Given the description of an element on the screen output the (x, y) to click on. 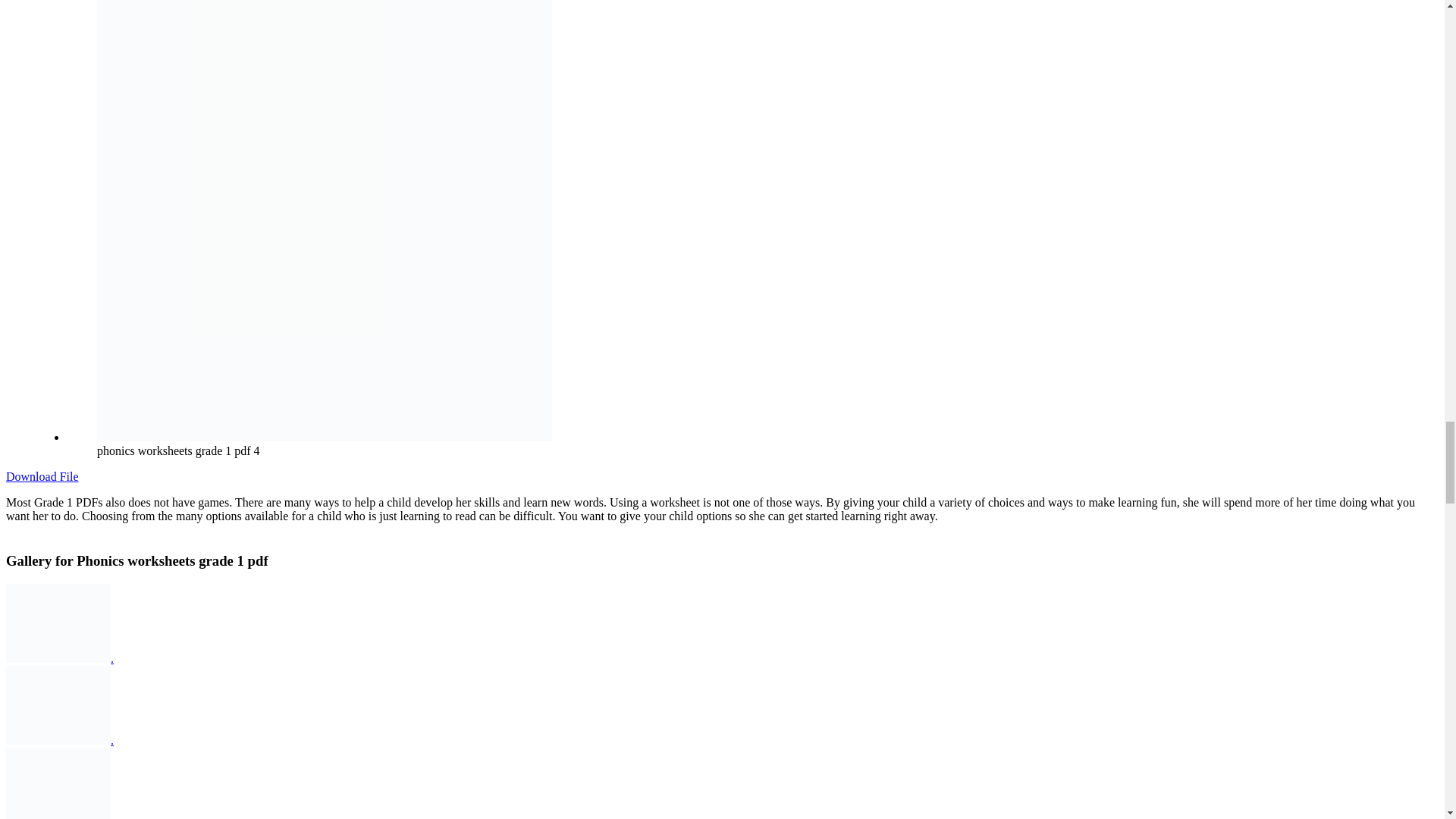
Download File (41, 476)
. (111, 739)
phonics worksheets grade 1 pdf 3 (57, 704)
Image for phonics worksheets grade 1 pdf 4 (57, 658)
Image for phonics worksheets grade 1 pdf 2 (57, 817)
phonics worksheets grade 1 pdf 4 (57, 622)
phonics worksheets grade 1 pdf 2 (57, 783)
. (111, 658)
Image for phonics worksheets grade 1 pdf 3 (57, 739)
